Given the description of an element on the screen output the (x, y) to click on. 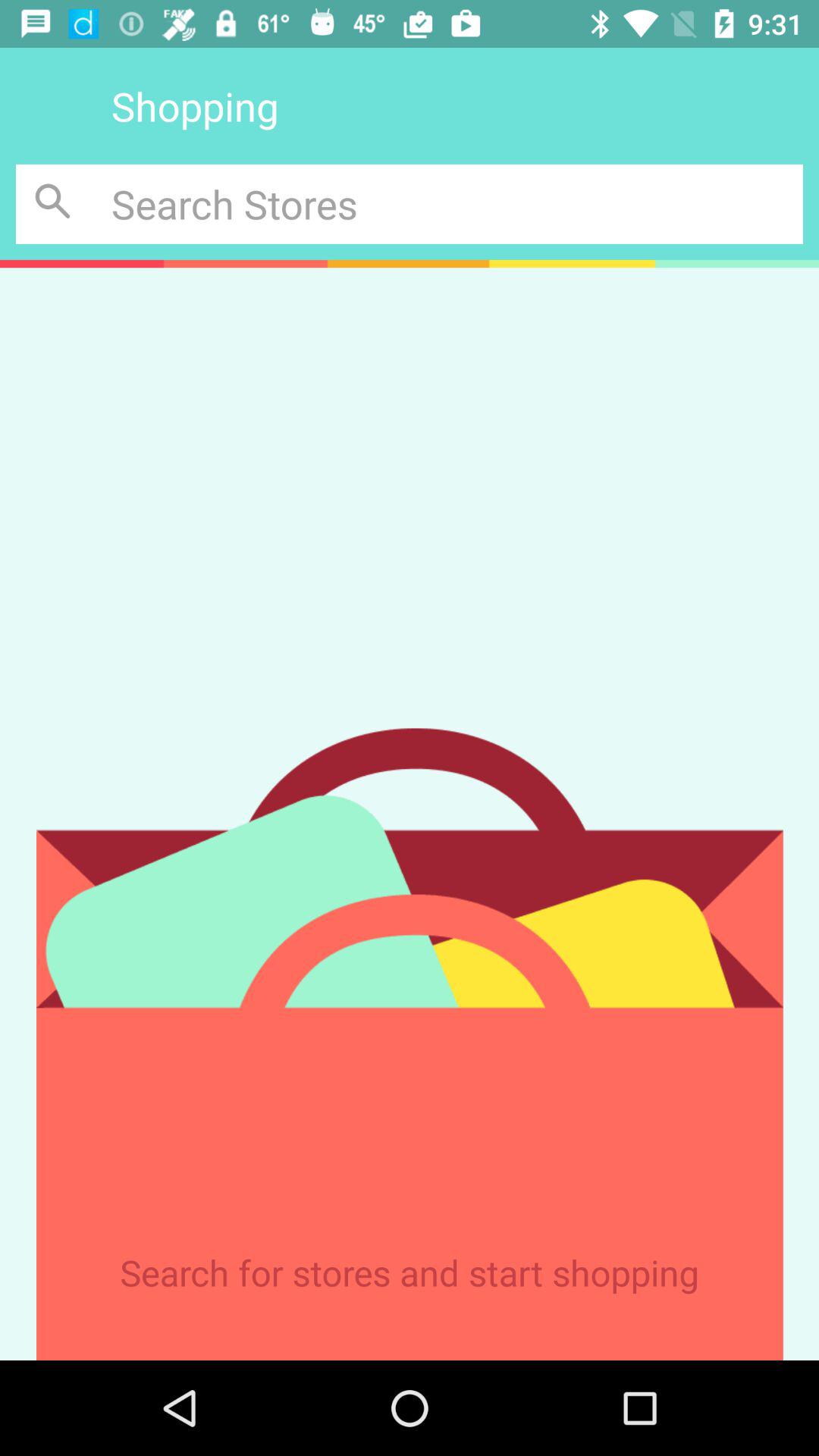
begin search (55, 204)
